Given the description of an element on the screen output the (x, y) to click on. 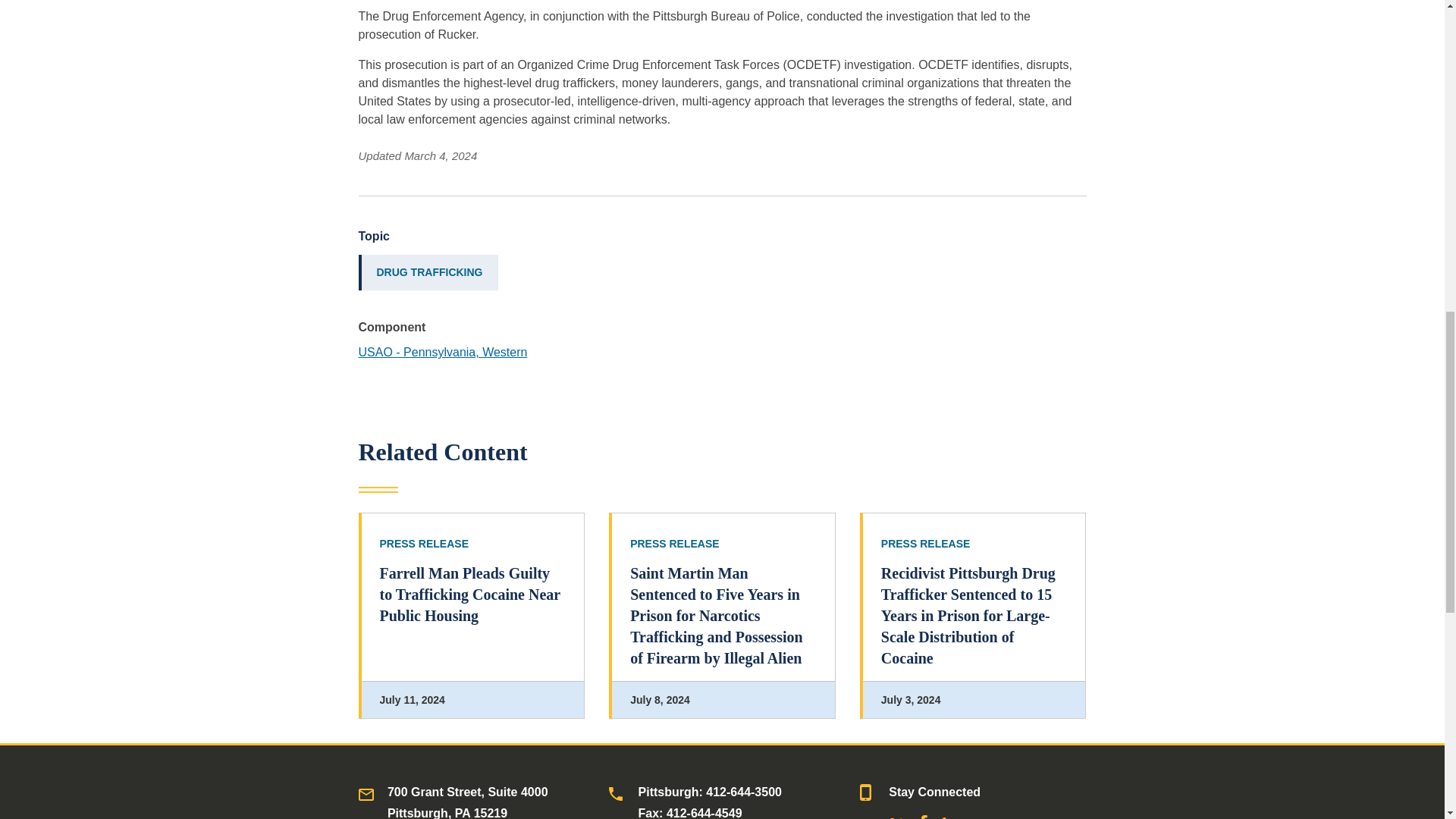
USAO - Pennsylvania, Western (442, 351)
